Given the description of an element on the screen output the (x, y) to click on. 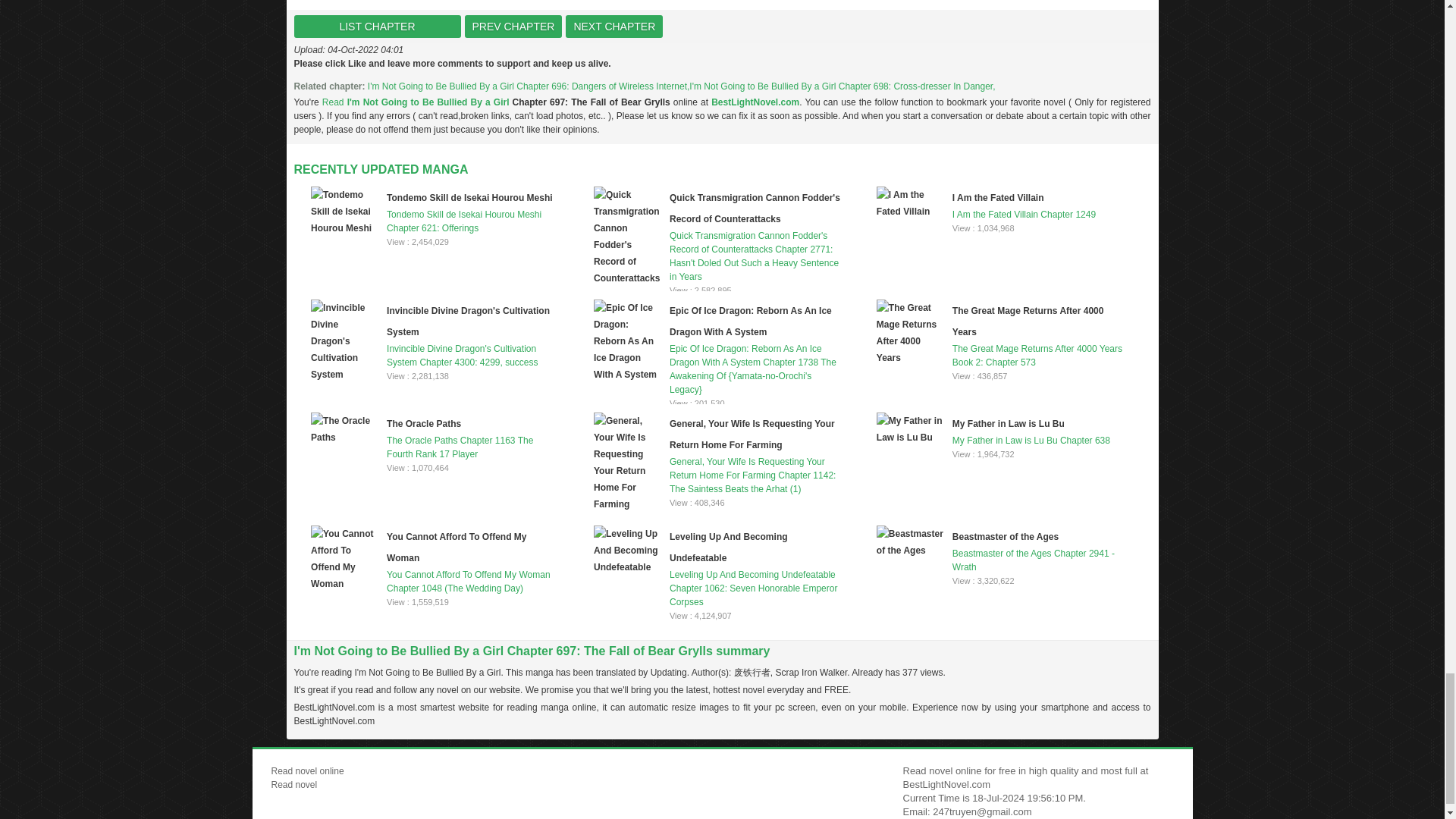
Read I'm Not Going to Be Bullied By a Girl (416, 102)
Tondemo Skill de Isekai Hourou Meshi Chapter 621: Offerings (435, 210)
Invincible Divine Dragon's Cultivation System (468, 321)
NEXT CHAPTER (614, 26)
Tondemo Skill de Isekai Hourou Meshi Chapter 621: Offerings (435, 210)
PREV CHAPTER (513, 26)
Tondemo Skill de Isekai Hourou Meshi (469, 197)
I Am the Fated Villain (997, 197)
Read I'm Not Going to Be Bullied By a Girl novel (416, 102)
